Given the description of an element on the screen output the (x, y) to click on. 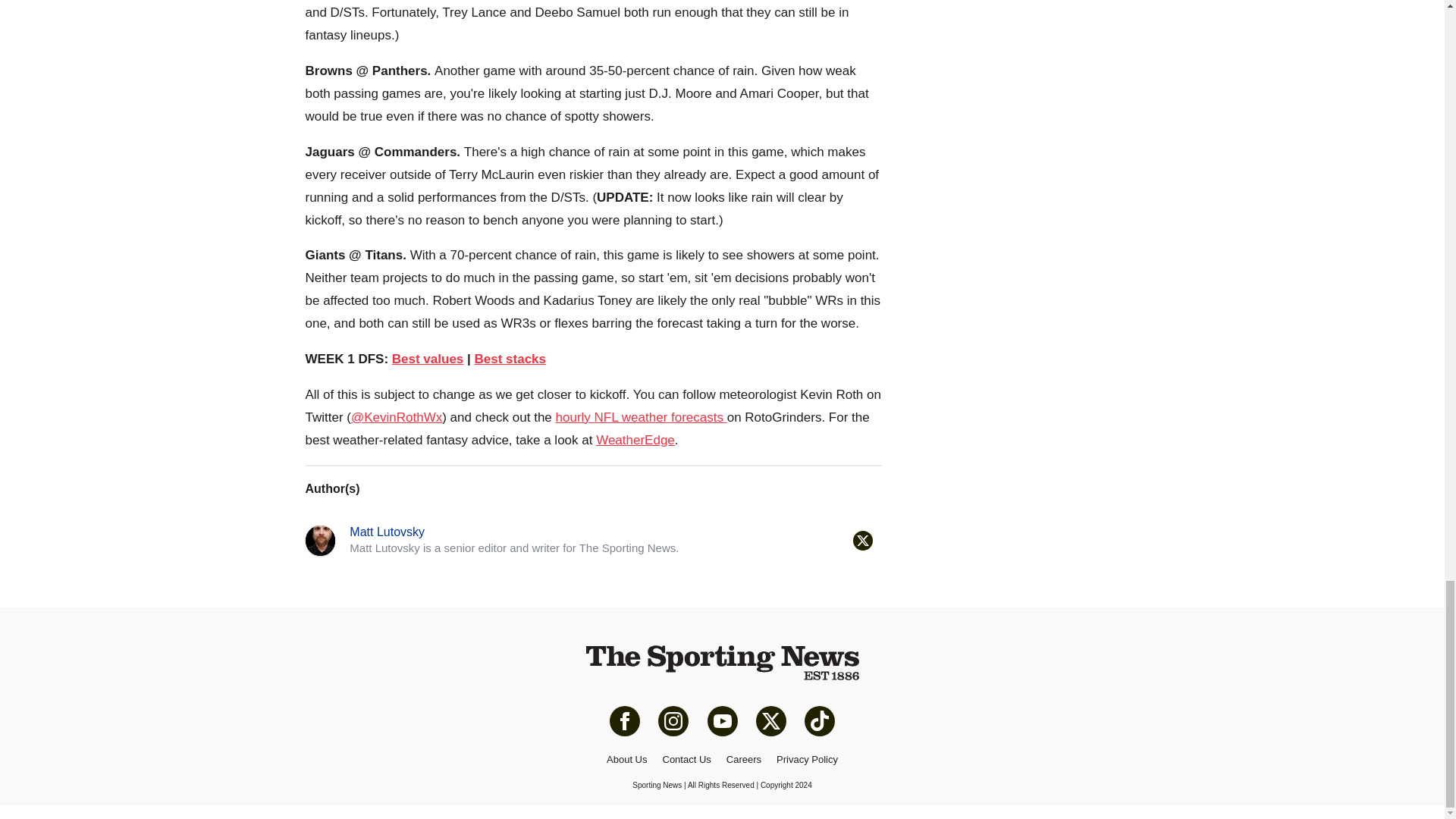
Open the author page on Twitter (861, 540)
